Given the description of an element on the screen output the (x, y) to click on. 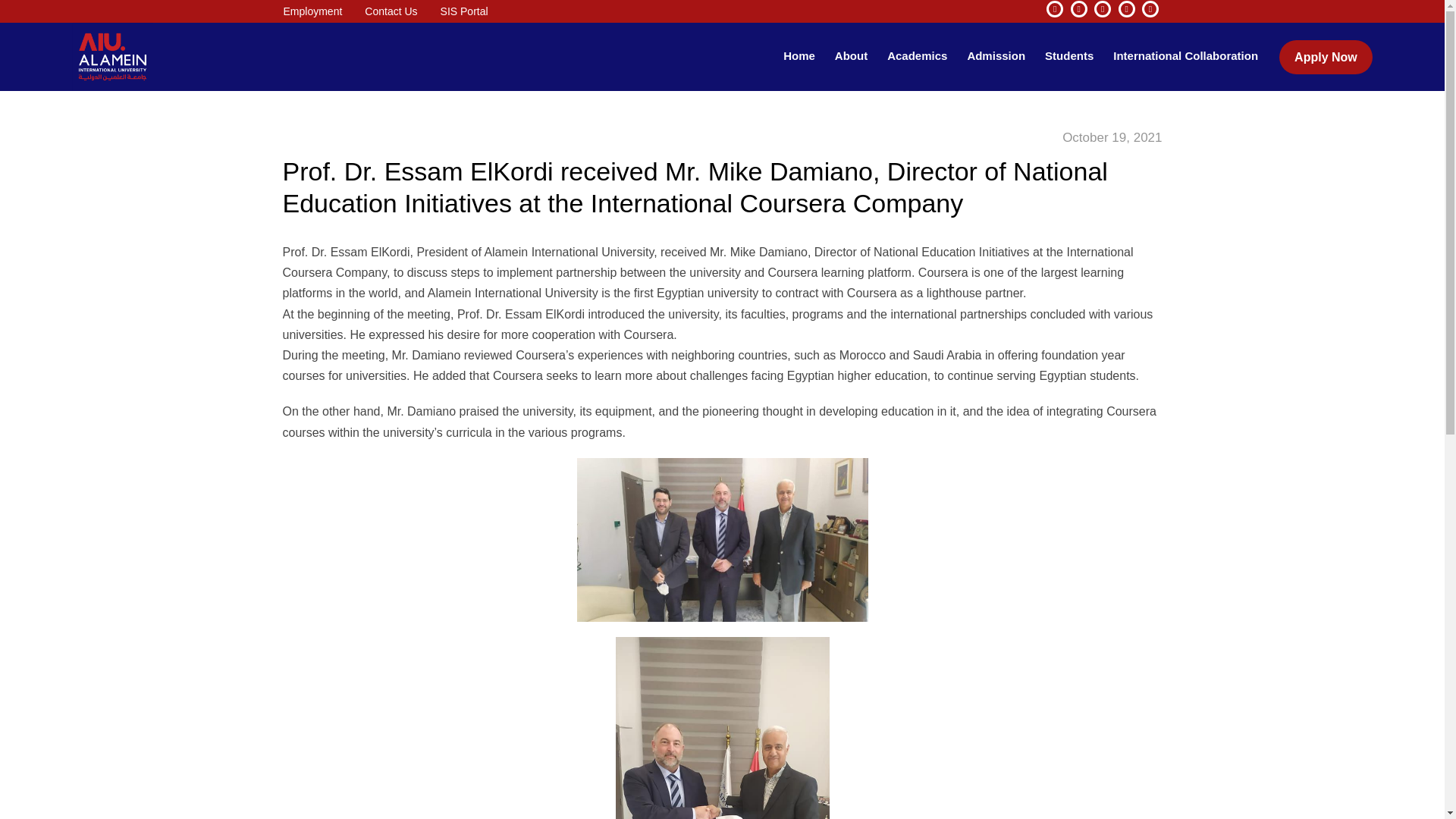
LinkedIn (1102, 8)
SIS Portal (464, 11)
Facebook (1054, 8)
Academics (916, 56)
Instagram (1126, 8)
Contact Us (390, 11)
Employment (312, 11)
YouTube (1078, 8)
October 19, 2021 (1111, 137)
Twitter (1149, 8)
